Given the description of an element on the screen output the (x, y) to click on. 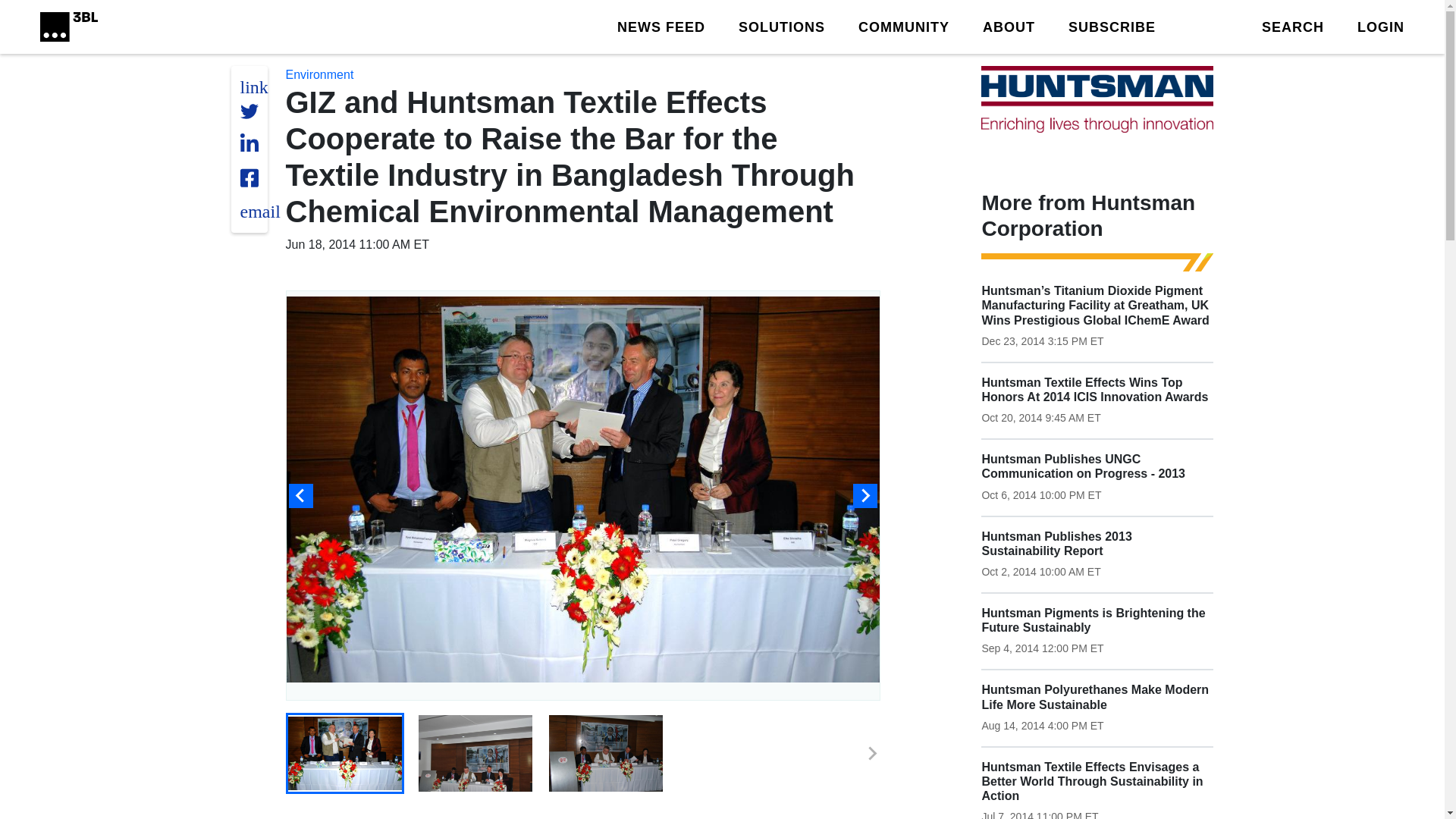
NEWS FEED (660, 26)
Share via email (259, 211)
link to 3 B L Media's Twitter (253, 87)
SOLUTIONS (781, 26)
COMMUNITY (904, 26)
ABOUT (1008, 26)
SUBSCRIBE (1112, 26)
